Given the description of an element on the screen output the (x, y) to click on. 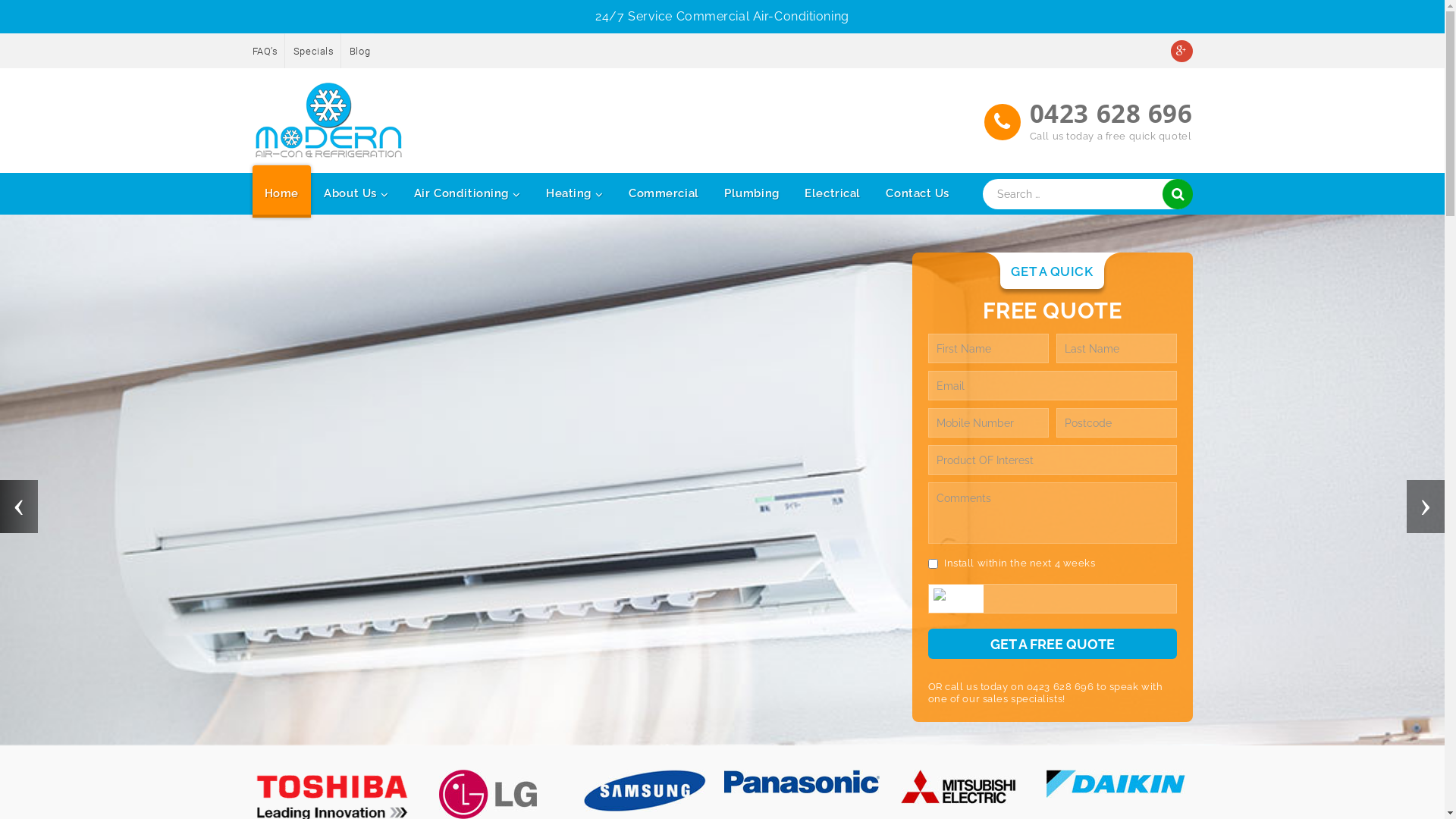
Commercial Element type: text (663, 191)
Search Element type: text (1176, 193)
Air Conditioning Element type: text (467, 191)
About Us Element type: text (355, 191)
0423 628 696 Element type: text (1110, 113)
Electrical Element type: text (832, 191)
Blog Element type: text (359, 50)
Plumbing Element type: text (751, 191)
0423 628 696 Element type: text (1060, 686)
Contact Us Element type: text (917, 191)
Specials Element type: text (313, 50)
Get A Free Quote Element type: text (1052, 643)
Home Element type: text (280, 191)
Heating Element type: text (574, 191)
